Given the description of an element on the screen output the (x, y) to click on. 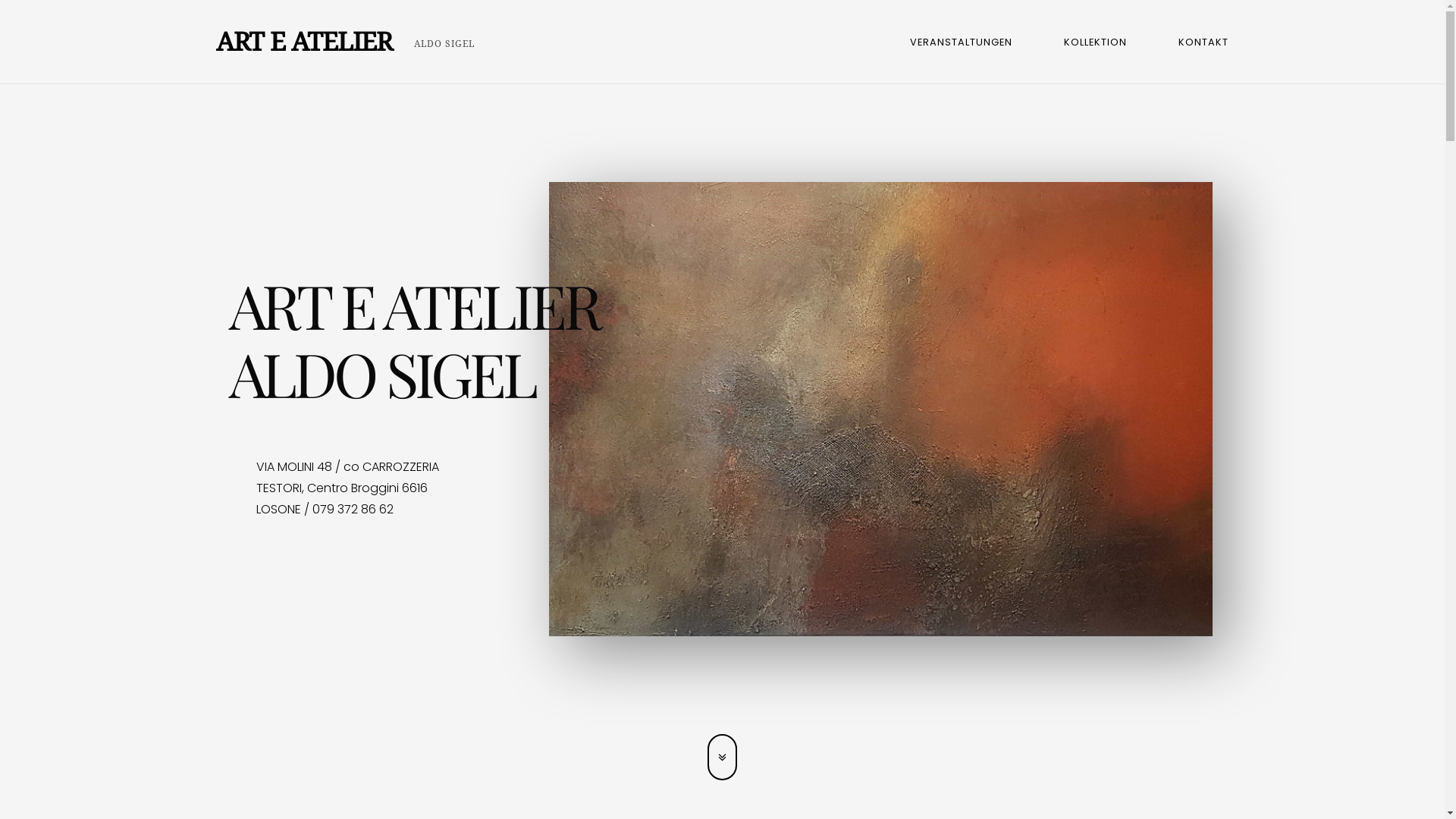
ART E ATELIER ALDO SIGEL Element type: text (344, 41)
KONTAKT Element type: text (1203, 41)
KOLLEKTION Element type: text (1094, 41)
VERANSTALTUNGEN Element type: text (961, 41)
